Given the description of an element on the screen output the (x, y) to click on. 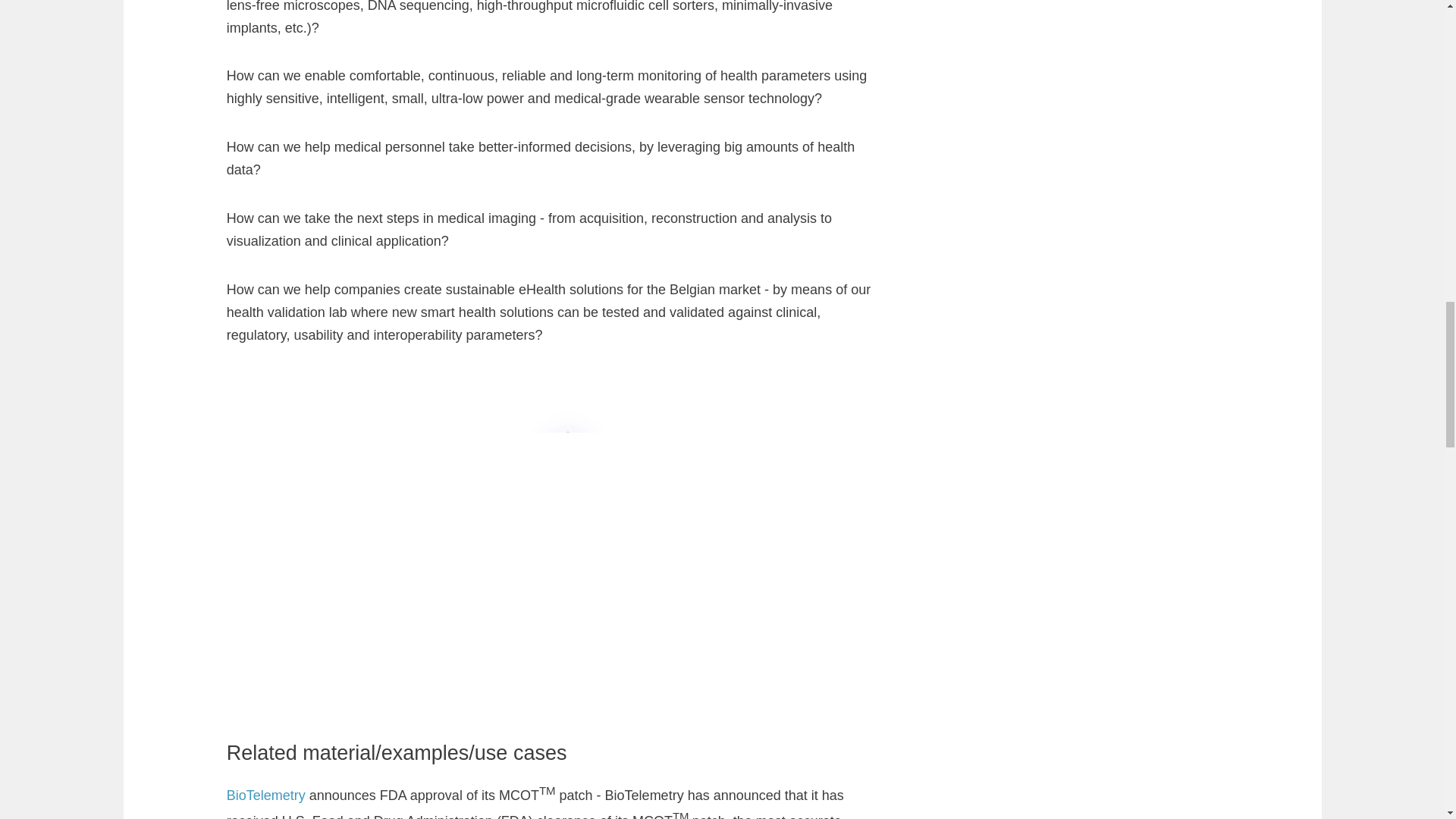
BioTelemetry  (267, 490)
ExaScience Life Lab  (291, 704)
